Given the description of an element on the screen output the (x, y) to click on. 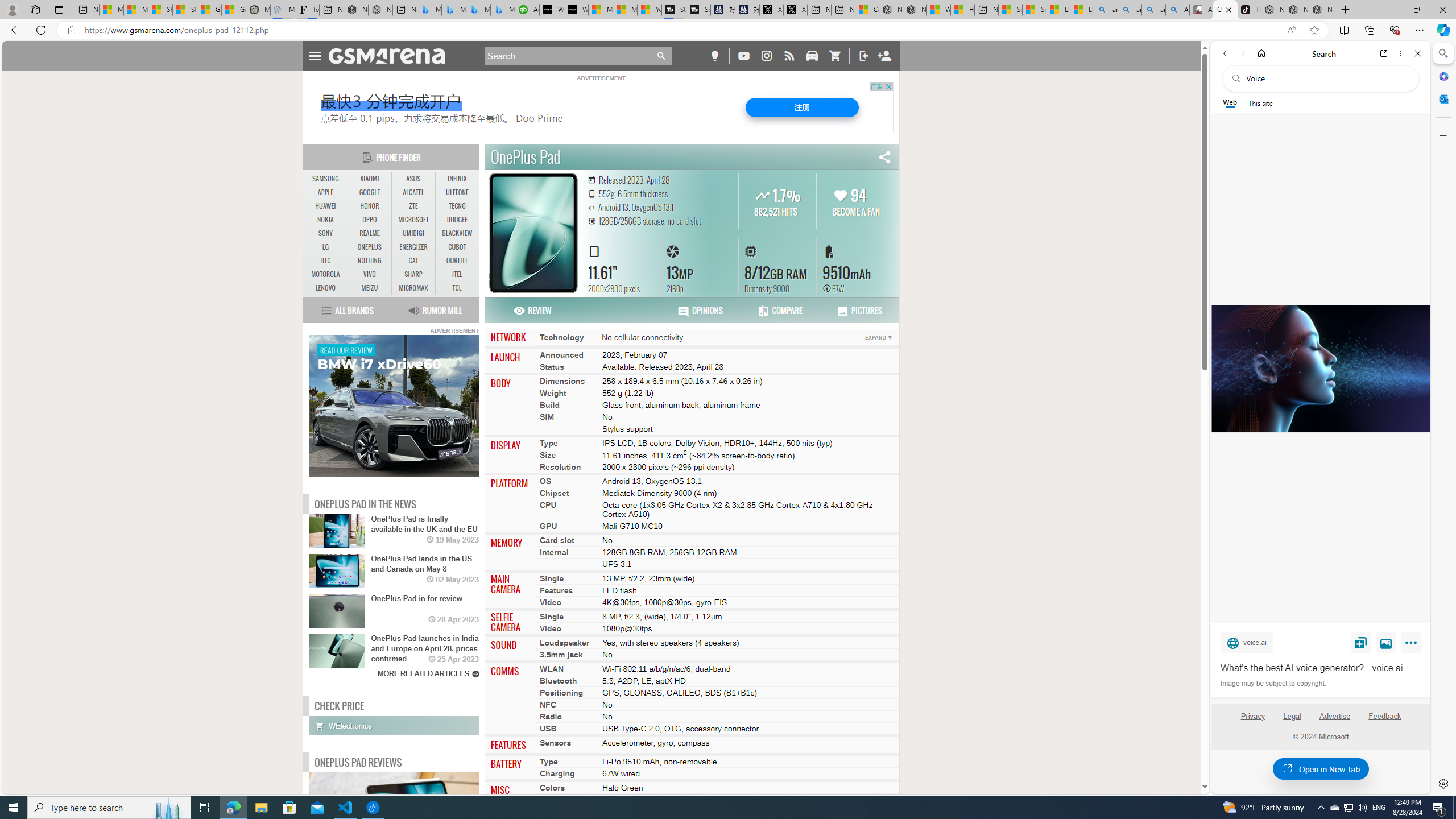
amazon - Search (1129, 9)
Wildlife - MSN (938, 9)
ONEPLUS (369, 246)
Video (551, 628)
HONOR (369, 206)
ITEL (457, 273)
Feedback (1384, 720)
TCL (457, 287)
Build (549, 404)
LG (325, 246)
